Given the description of an element on the screen output the (x, y) to click on. 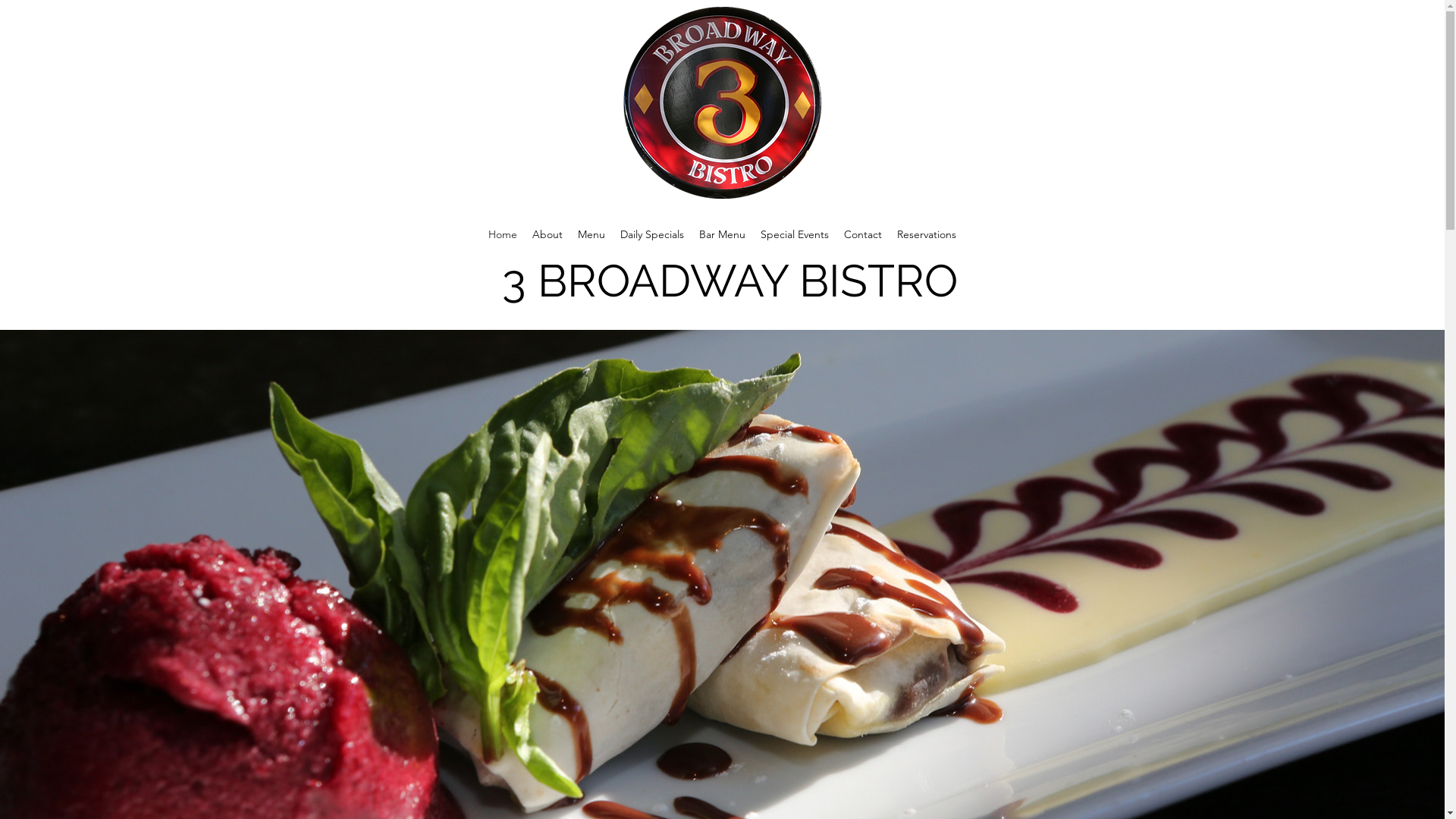
Special Events Element type: text (794, 233)
3-broadway-bistro-logo2.png Element type: hover (721, 102)
Contact Element type: text (862, 233)
Daily Specials Element type: text (651, 233)
Bar Menu Element type: text (722, 233)
Home Element type: text (502, 233)
Reservations Element type: text (926, 233)
About Element type: text (547, 233)
